Given the description of an element on the screen output the (x, y) to click on. 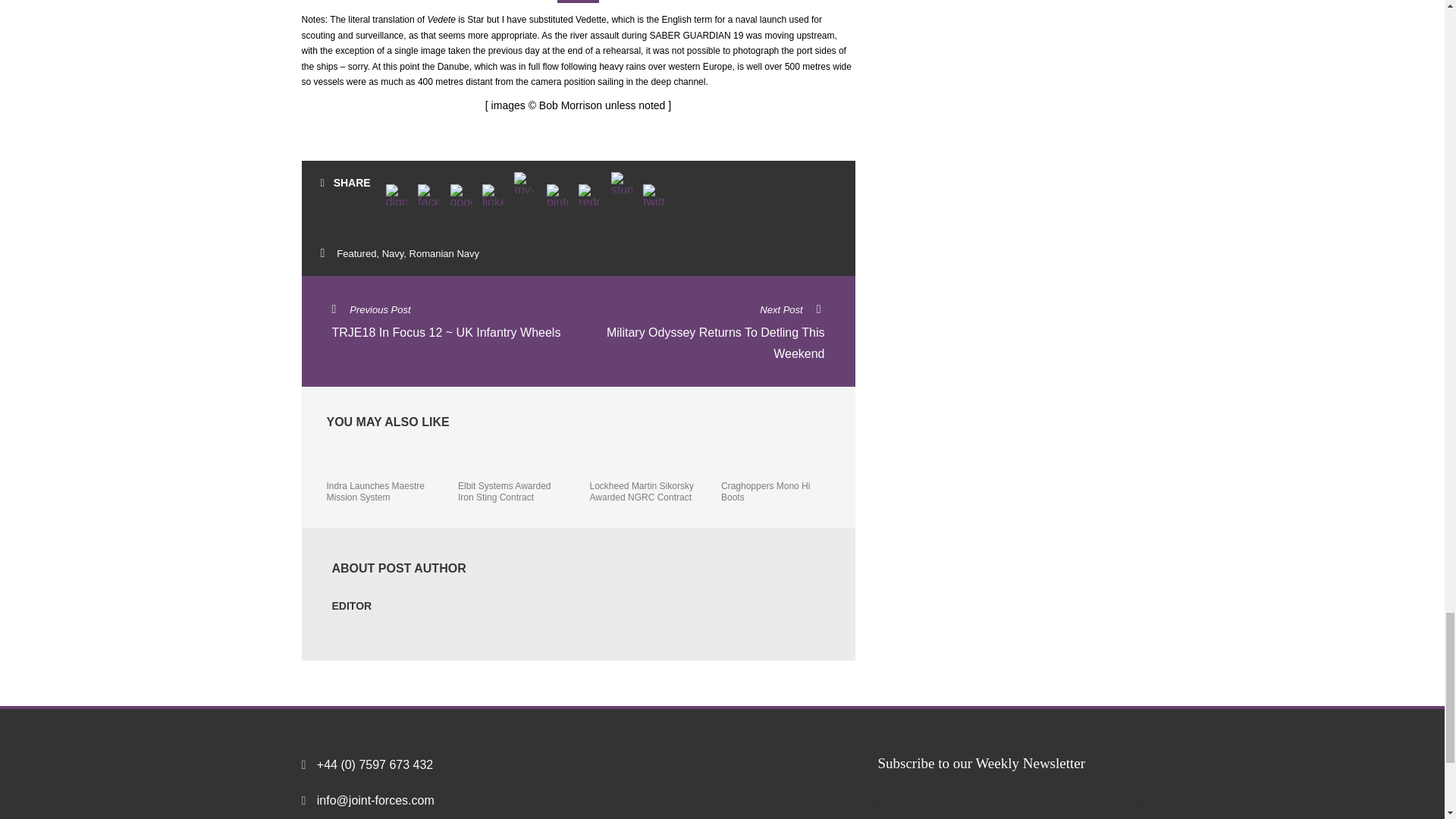
Posts by Editor (351, 605)
